Given the description of an element on the screen output the (x, y) to click on. 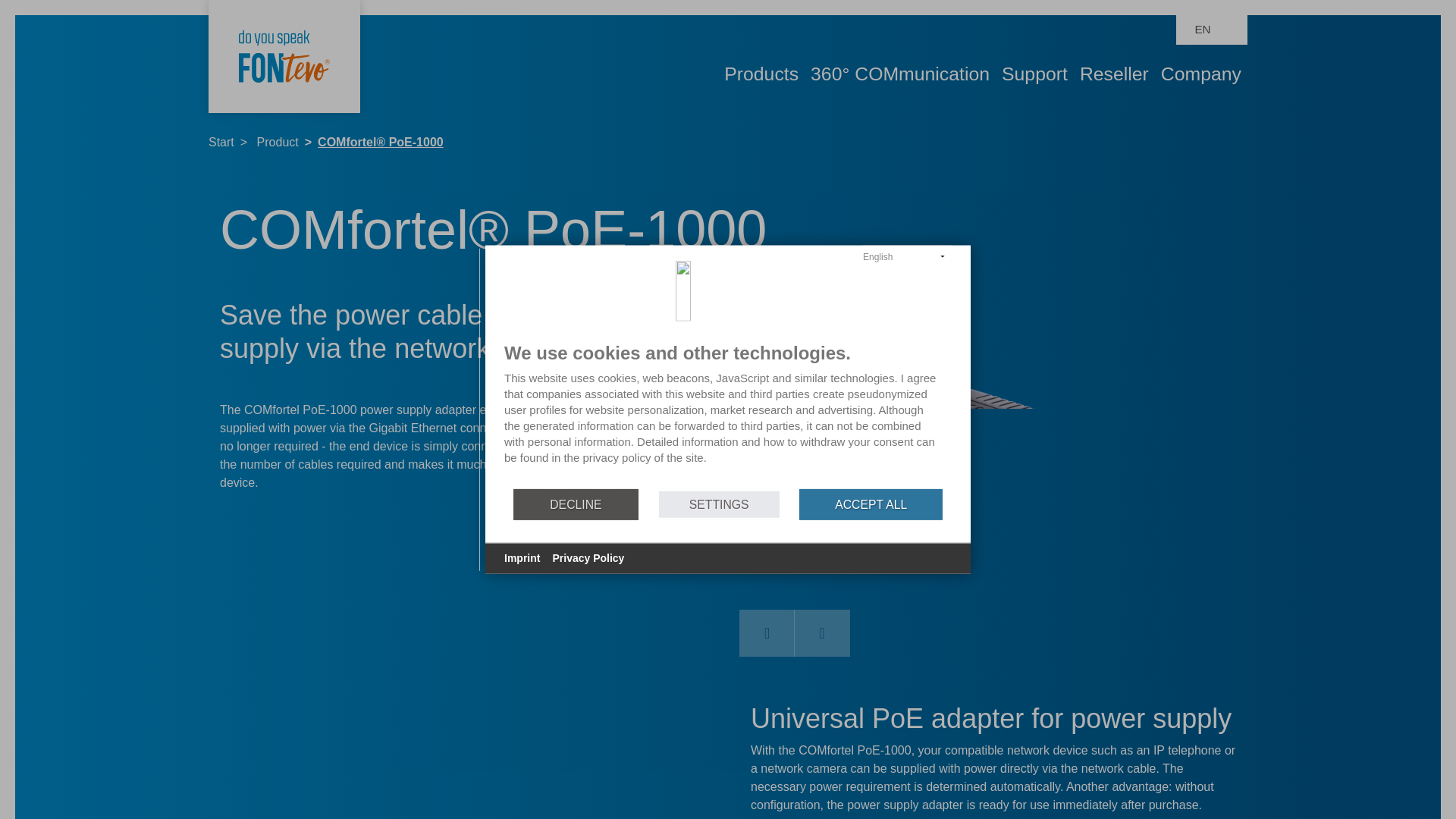
Products (761, 74)
Reseller (1114, 74)
Reseller (1114, 74)
Products (761, 74)
EN (1211, 30)
Support (1034, 74)
Support (1034, 74)
Company (1200, 74)
Company (1200, 74)
